Given the description of an element on the screen output the (x, y) to click on. 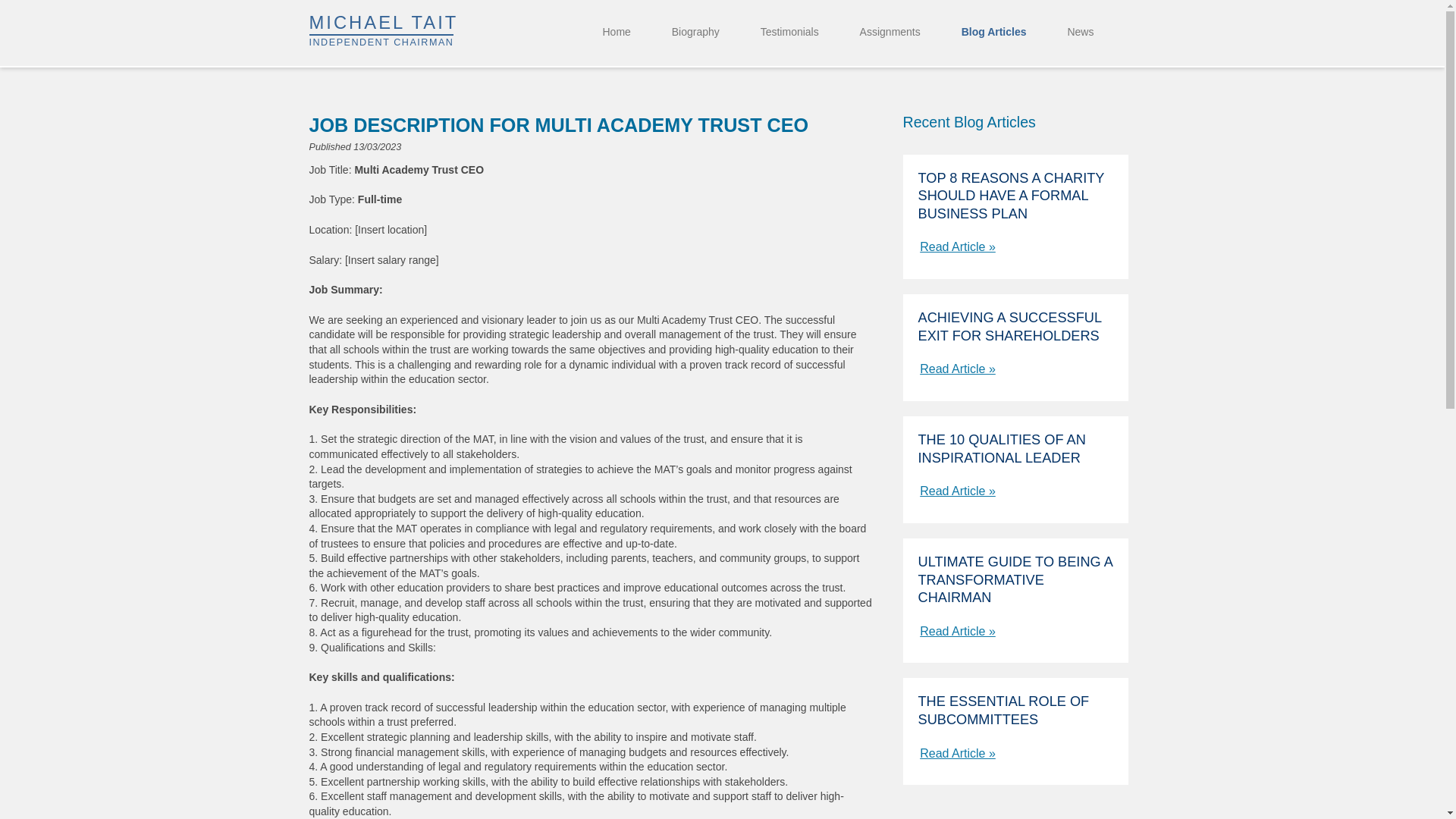
Home (616, 32)
Biography (695, 32)
News (1080, 32)
Independent Chairman (432, 31)
Assignments (432, 31)
Blog Articles (890, 32)
Testimonials (993, 32)
